Given the description of an element on the screen output the (x, y) to click on. 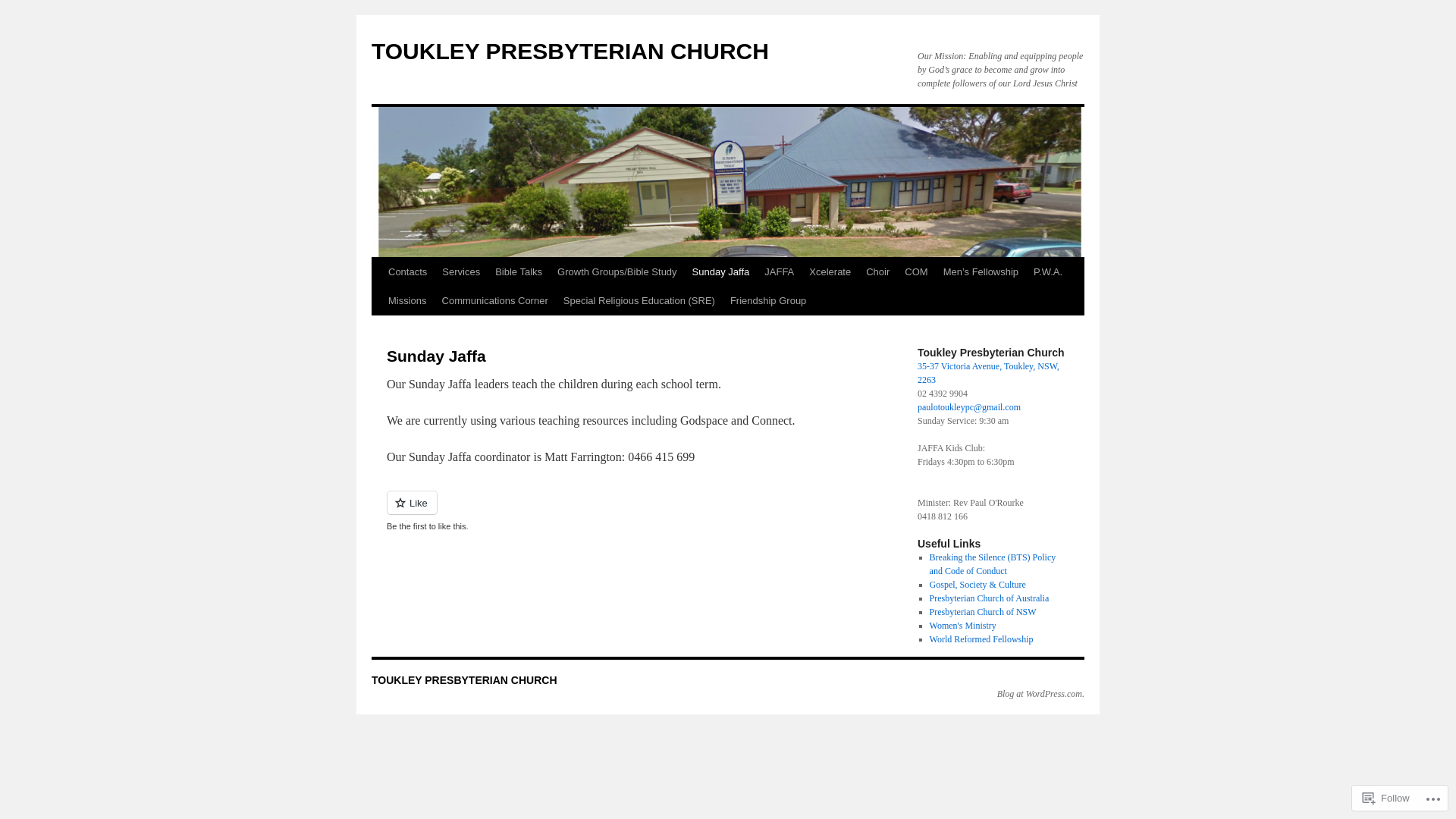
Follow Element type: text (1385, 797)
Missions Element type: text (407, 300)
TOUKLEY PRESBYTERIAN CHURCH Element type: text (569, 50)
TOUKLEY PRESBYTERIAN CHURCH Element type: text (464, 680)
COM Element type: text (916, 271)
Presbyterian Church of NSW Element type: text (982, 611)
Choir Element type: text (877, 271)
paulotoukleypc@gmail.com Element type: text (968, 406)
P.W.A. Element type: text (1048, 271)
Special Religious Education (SRE) Element type: text (638, 300)
Presbyterian Church of Australia Element type: text (989, 598)
Contacts Element type: text (407, 271)
Gospel, Society & Culture Element type: text (977, 584)
35-37 Victoria Avenue, Toukley, NSW, 2263 Element type: text (988, 372)
Friendship Group Element type: text (767, 300)
Like or Reblog Element type: hover (629, 511)
Blog at WordPress.com. Element type: text (1040, 693)
Sunday Jaffa Element type: text (720, 271)
Women's Ministry Element type: text (962, 625)
Breaking the Silence (BTS) Policy and Code of Conduct Element type: text (992, 564)
World Reformed Fellowship Element type: text (981, 638)
Bible Talks Element type: text (518, 271)
Communications Corner Element type: text (494, 300)
Growth Groups/Bible Study Element type: text (616, 271)
Services Element type: text (460, 271)
Xcelerate Element type: text (829, 271)
JAFFA Element type: text (778, 271)
